Given the description of an element on the screen output the (x, y) to click on. 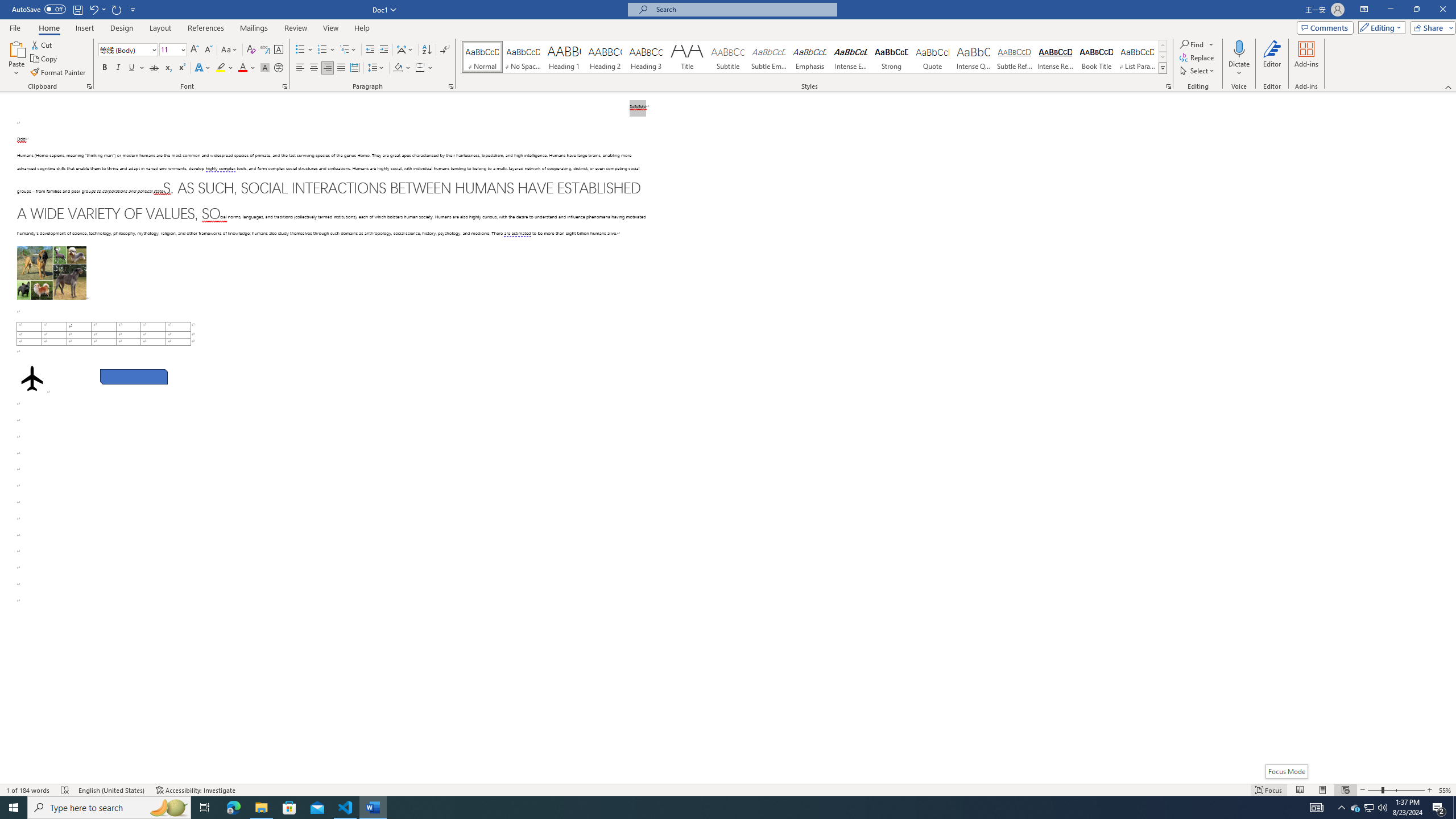
Font Color Red (241, 67)
Strong (891, 56)
Morphological variation in six dogs (51, 272)
